Given the description of an element on the screen output the (x, y) to click on. 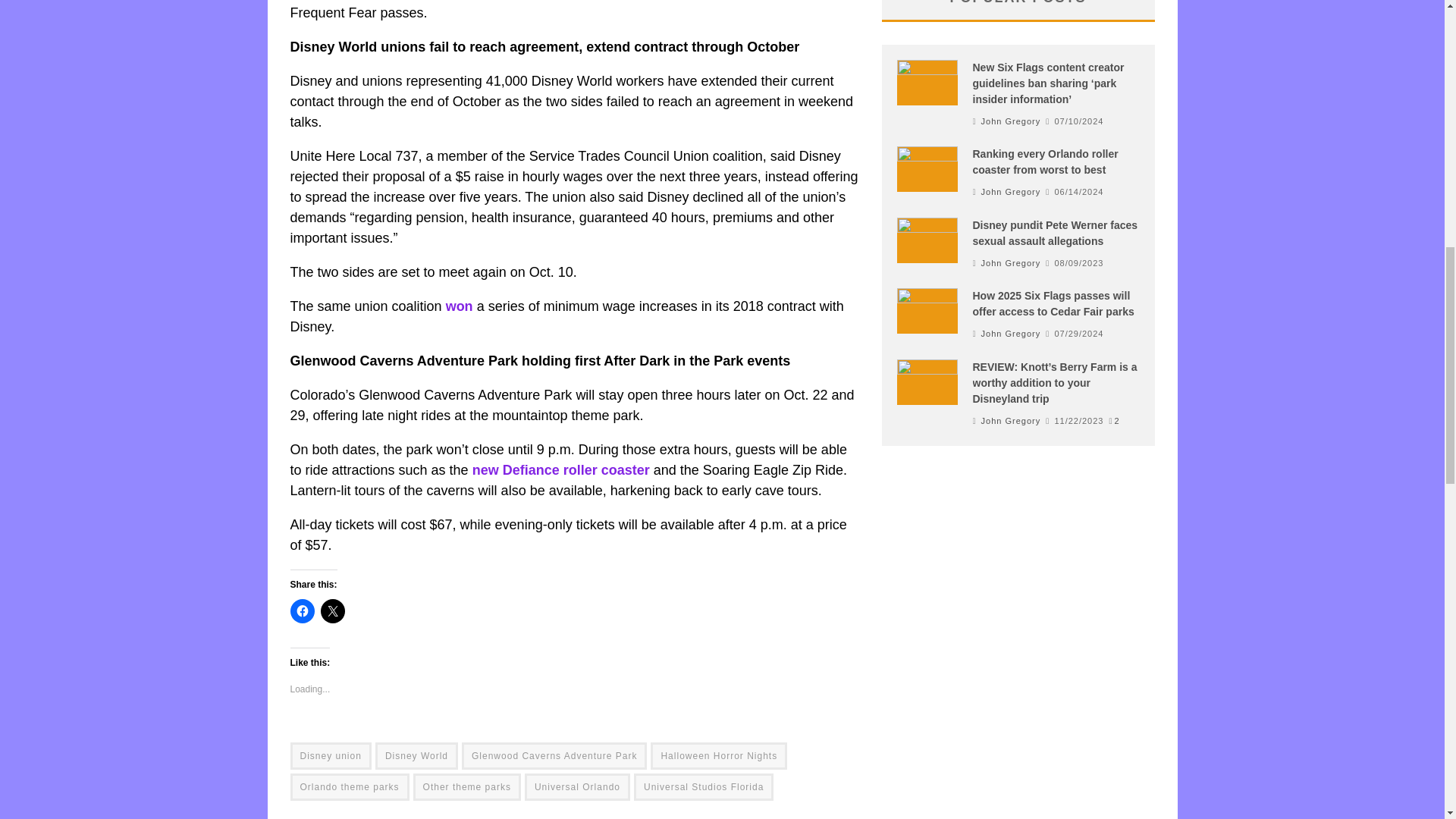
Click to share on X (331, 610)
Click to share on Facebook (301, 610)
